Given the description of an element on the screen output the (x, y) to click on. 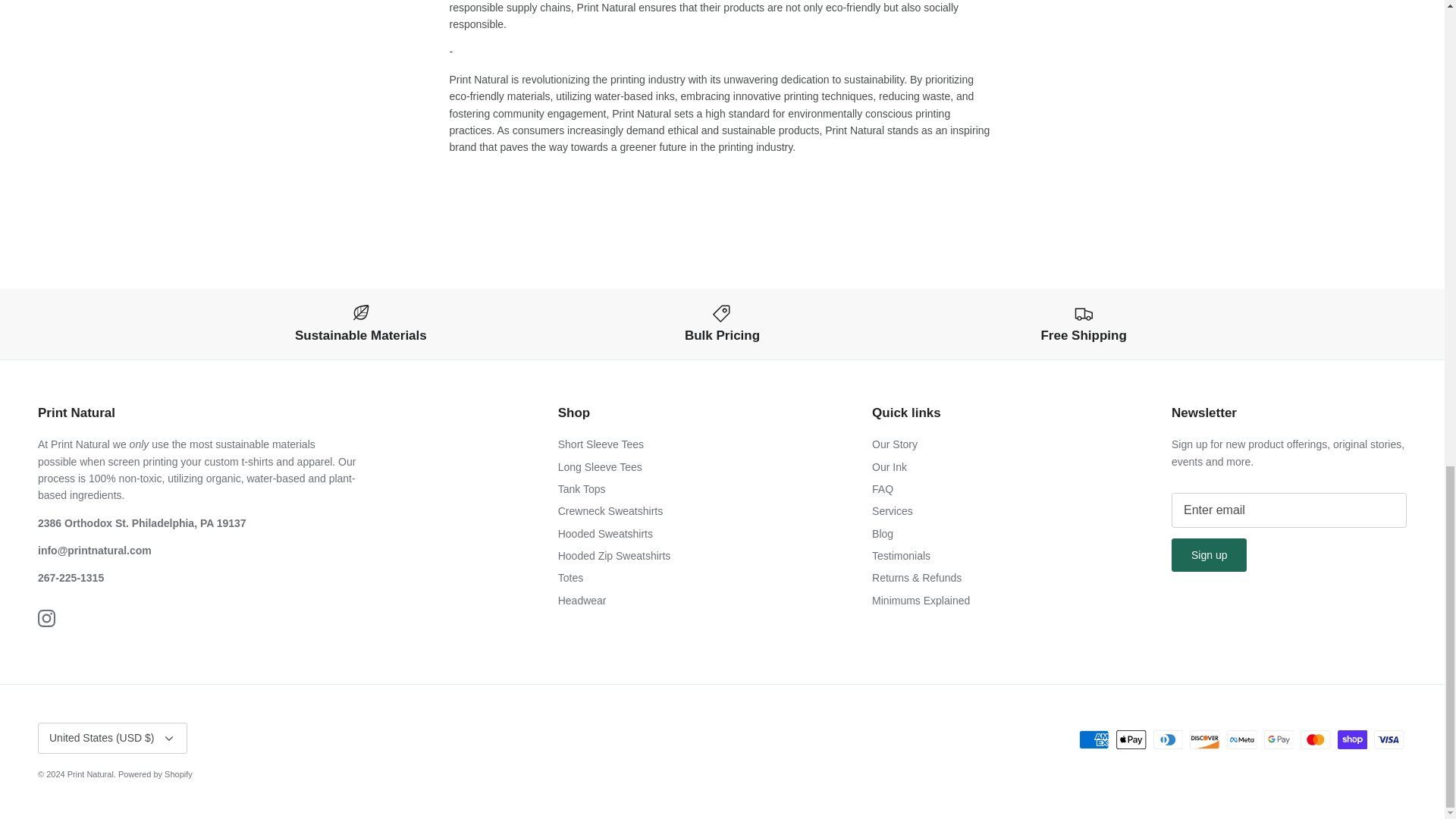
Instagram (46, 618)
Meta Pay (1241, 739)
American Express (1093, 739)
Mastercard (1315, 739)
Visa (1388, 739)
Discover (1204, 739)
Down (168, 738)
Apple Pay (1130, 739)
Shop Pay (1352, 739)
Google Pay (1277, 739)
